Given the description of an element on the screen output the (x, y) to click on. 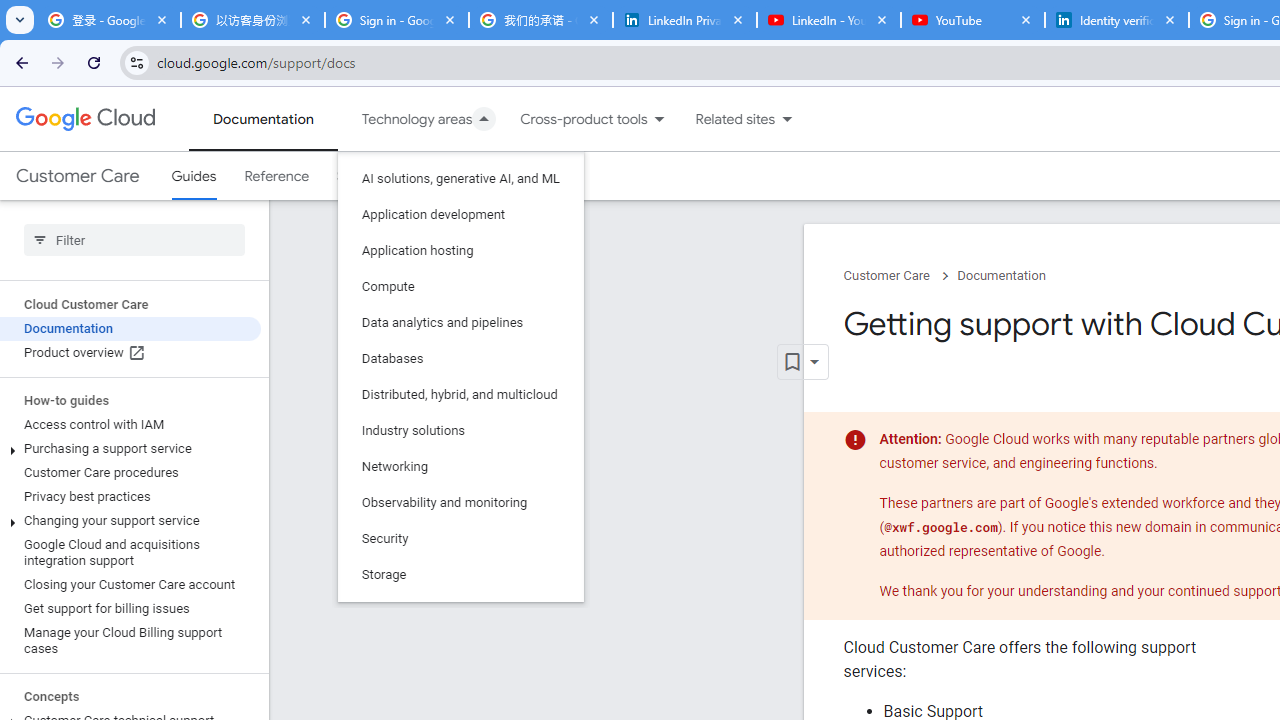
Related sites (722, 119)
Customer Care (77, 175)
Documentation, selected (263, 119)
Open dropdown (802, 362)
Customer Care chevron_right (900, 276)
Changing your support service (130, 520)
Reference (276, 175)
Documentation (1001, 276)
Product overview (130, 353)
YouTube (972, 20)
Manage your Cloud Billing support cases (130, 640)
LinkedIn - YouTube (828, 20)
Customer Care procedures (130, 472)
